Given the description of an element on the screen output the (x, y) to click on. 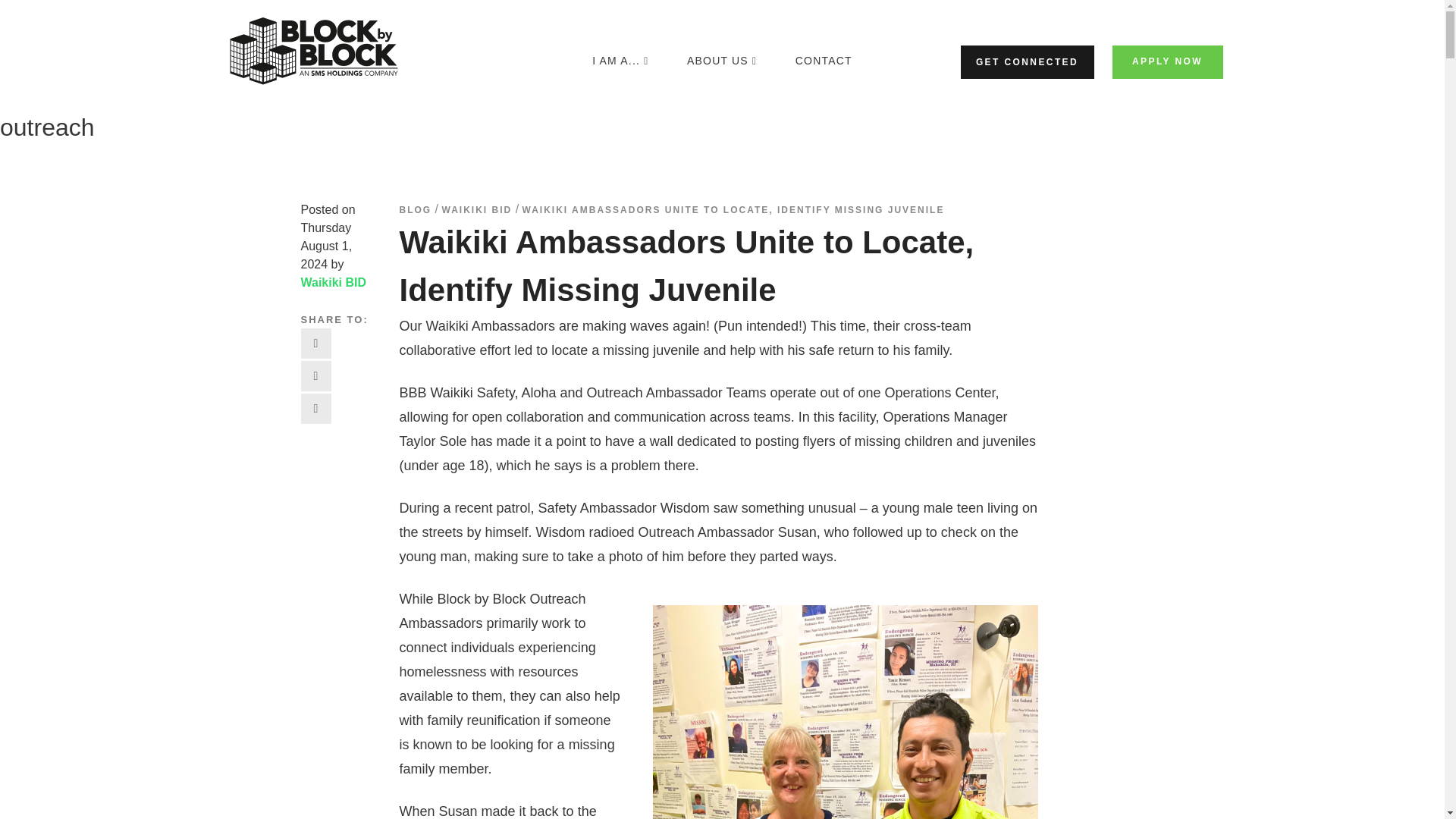
WAIKIKI BID (477, 209)
APPLY NOW (1167, 61)
ABOUT US (721, 60)
BLOG (414, 209)
I AM A... (620, 60)
CONTACT (823, 60)
Waikiki BID (332, 282)
GET CONNECTED (1026, 61)
